Given the description of an element on the screen output the (x, y) to click on. 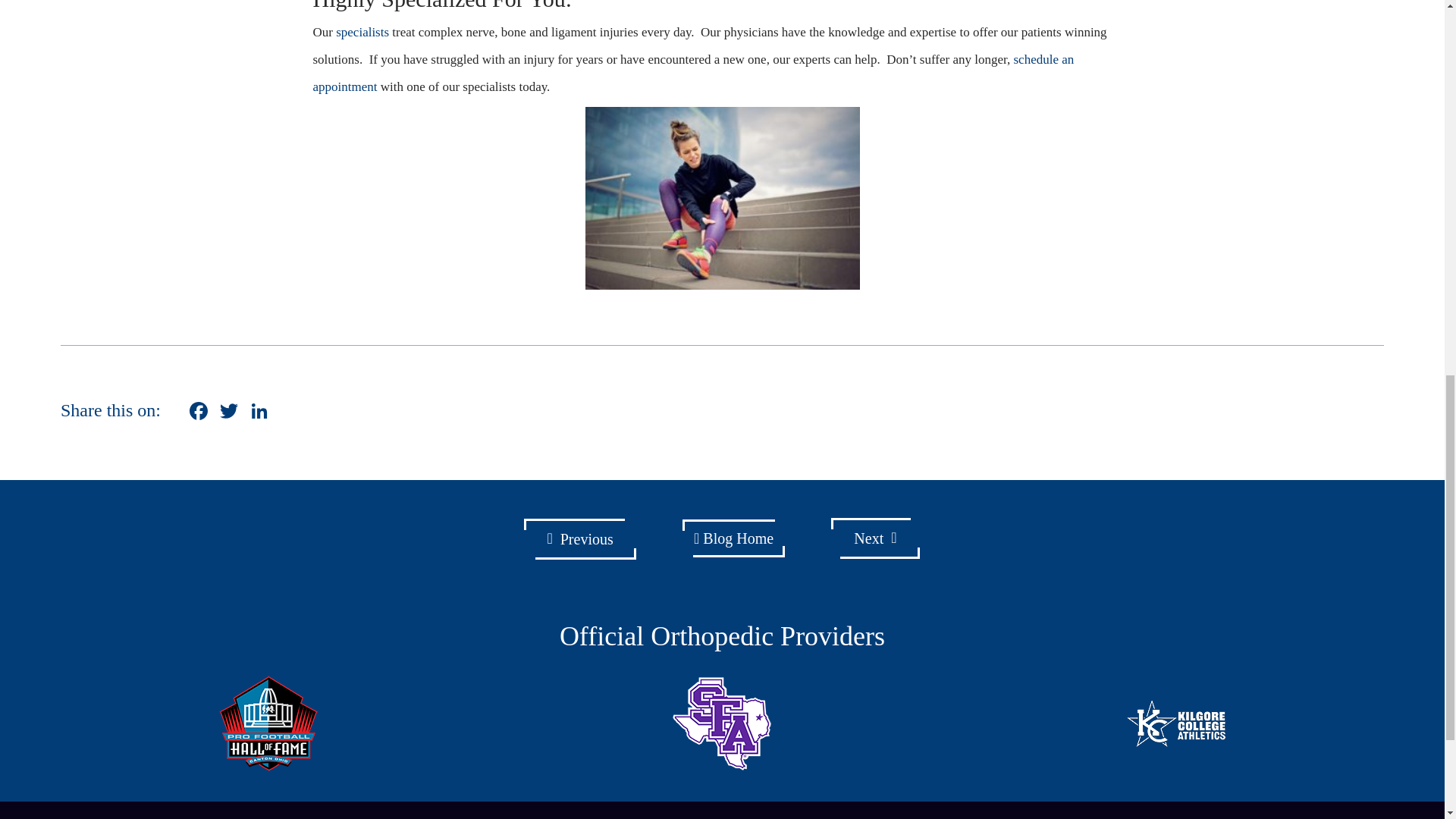
Facebook (198, 412)
Twitter (229, 412)
LinkedIn (259, 412)
